Given the description of an element on the screen output the (x, y) to click on. 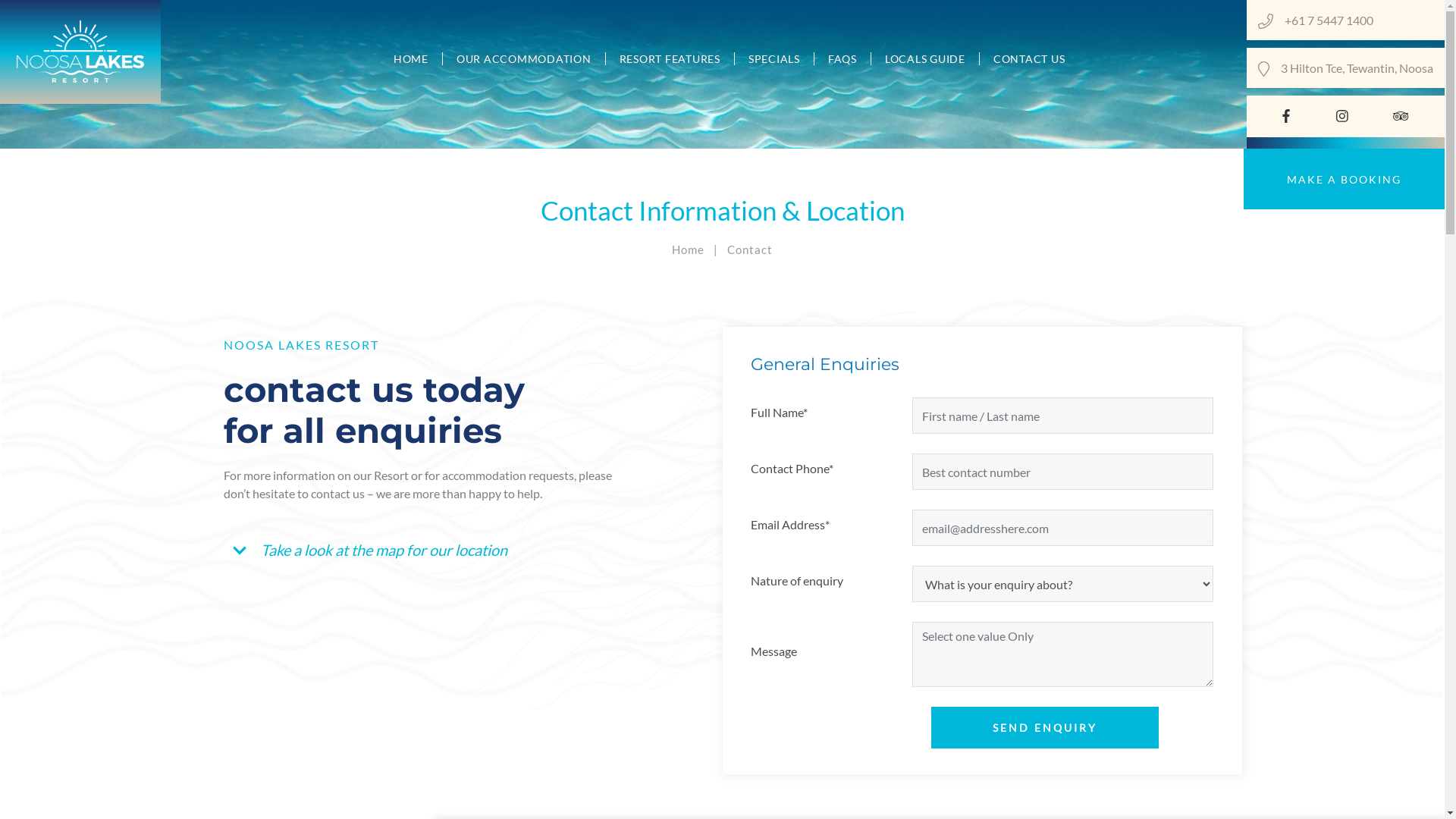
RESORT FEATURES Element type: text (669, 58)
OUR ACCOMMODATION Element type: text (523, 58)
3 Hilton Tce, Tewantin, Noosa Element type: text (1356, 67)
FAQS Element type: text (842, 58)
CONTACT US Element type: text (1022, 58)
Home Element type: text (687, 249)
HOME Element type: text (410, 58)
MAKE A BOOKING Element type: text (1343, 179)
LOCALS GUIDE Element type: text (925, 58)
Take a look at the map for our location Element type: text (373, 549)
SPECIALS Element type: text (774, 58)
+61 7 5447 1400 Element type: text (1358, 20)
SEND ENQUIRY Element type: text (1044, 727)
